Given the description of an element on the screen output the (x, y) to click on. 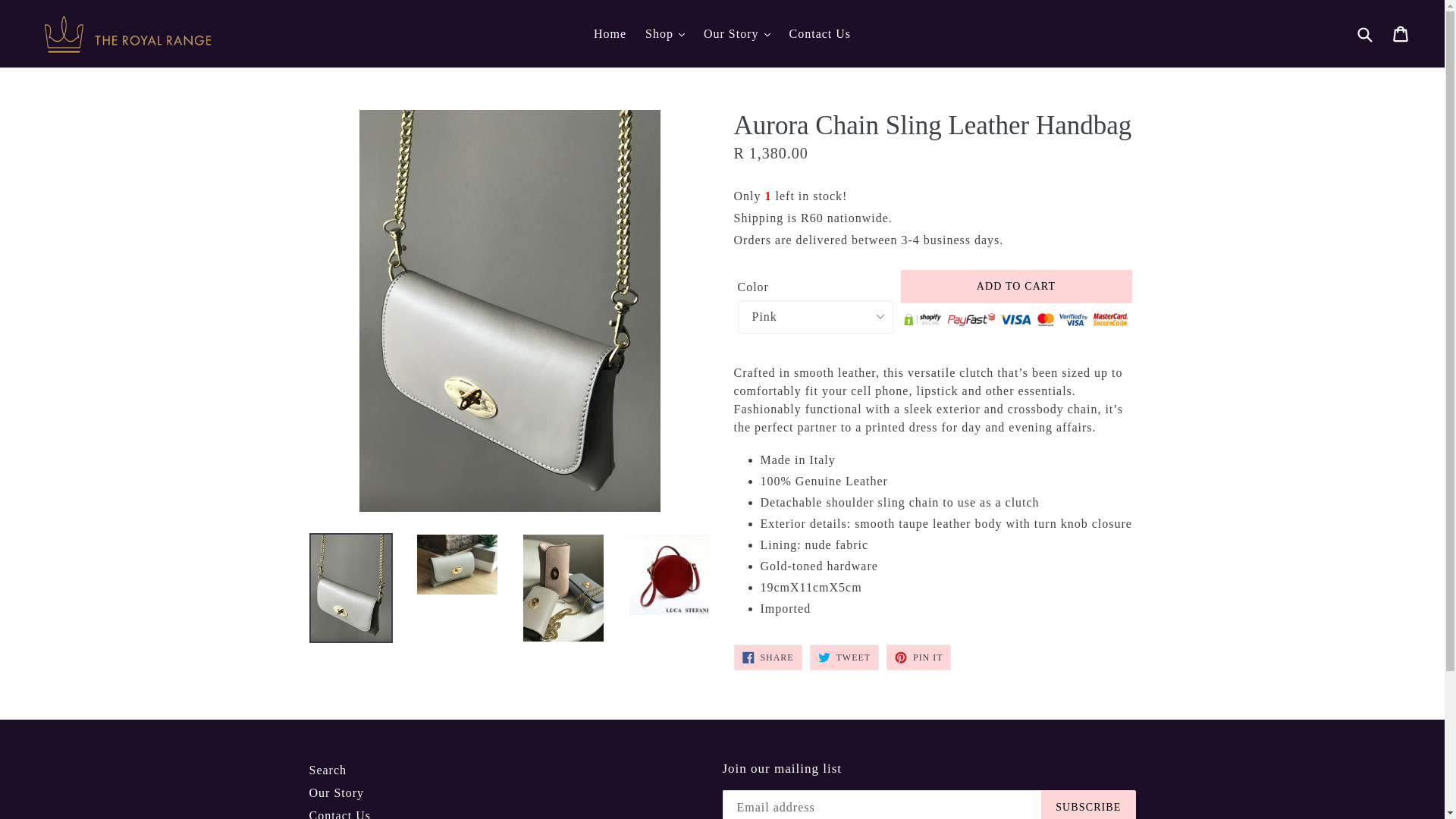
Contact Us (820, 33)
Share on Facebook (767, 657)
Pin on Pinterest (918, 657)
Tweet on Twitter (844, 657)
Home (609, 33)
